Given the description of an element on the screen output the (x, y) to click on. 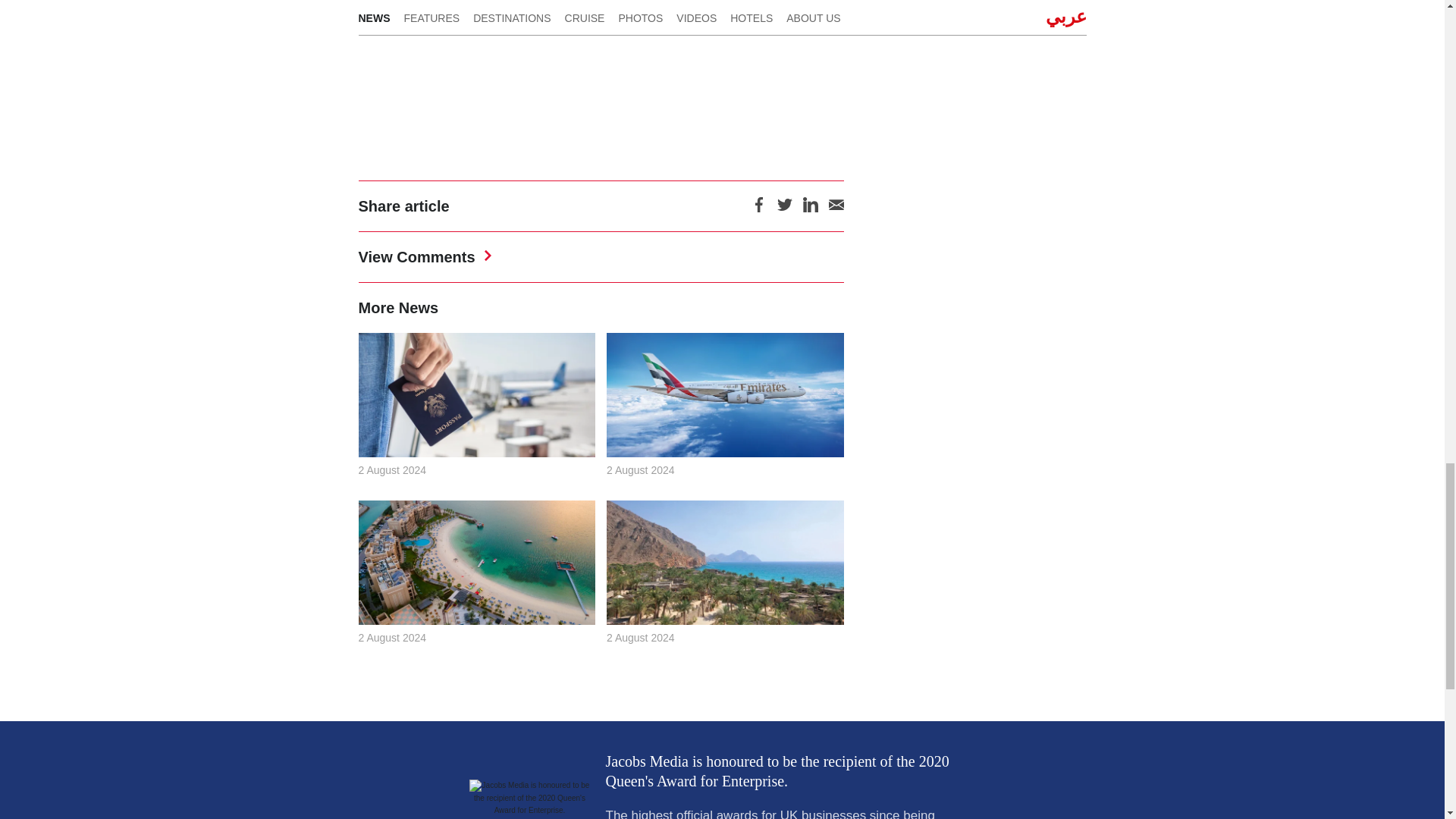
Share on Facebook (758, 209)
Share on LinkedIn (809, 209)
Share on Twitter (784, 209)
Share by email (835, 209)
